Given the description of an element on the screen output the (x, y) to click on. 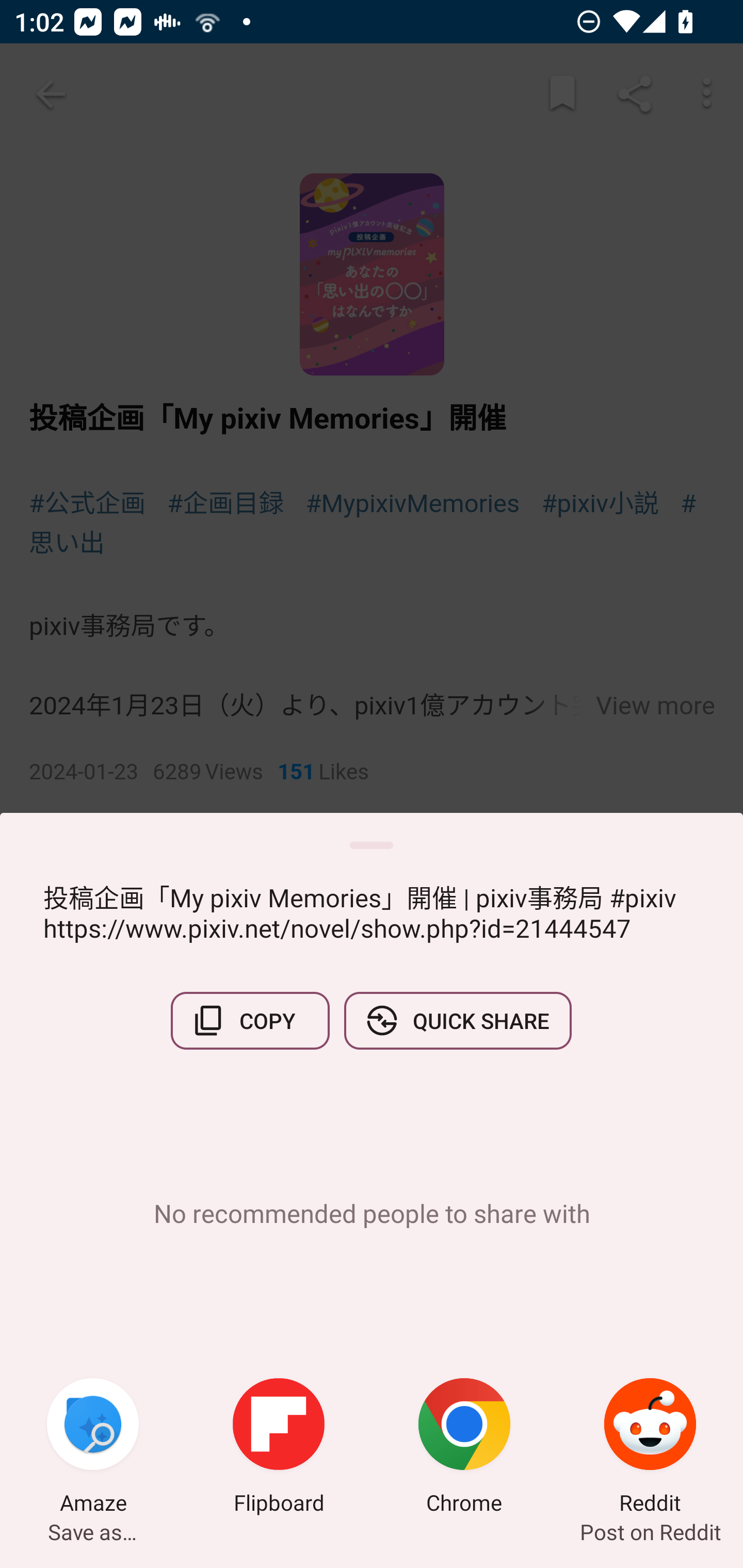
COPY (249, 1020)
QUICK SHARE (457, 1020)
Amaze Save as… (92, 1448)
Flipboard (278, 1448)
Chrome (464, 1448)
Reddit Post on Reddit (650, 1448)
